Given the description of an element on the screen output the (x, y) to click on. 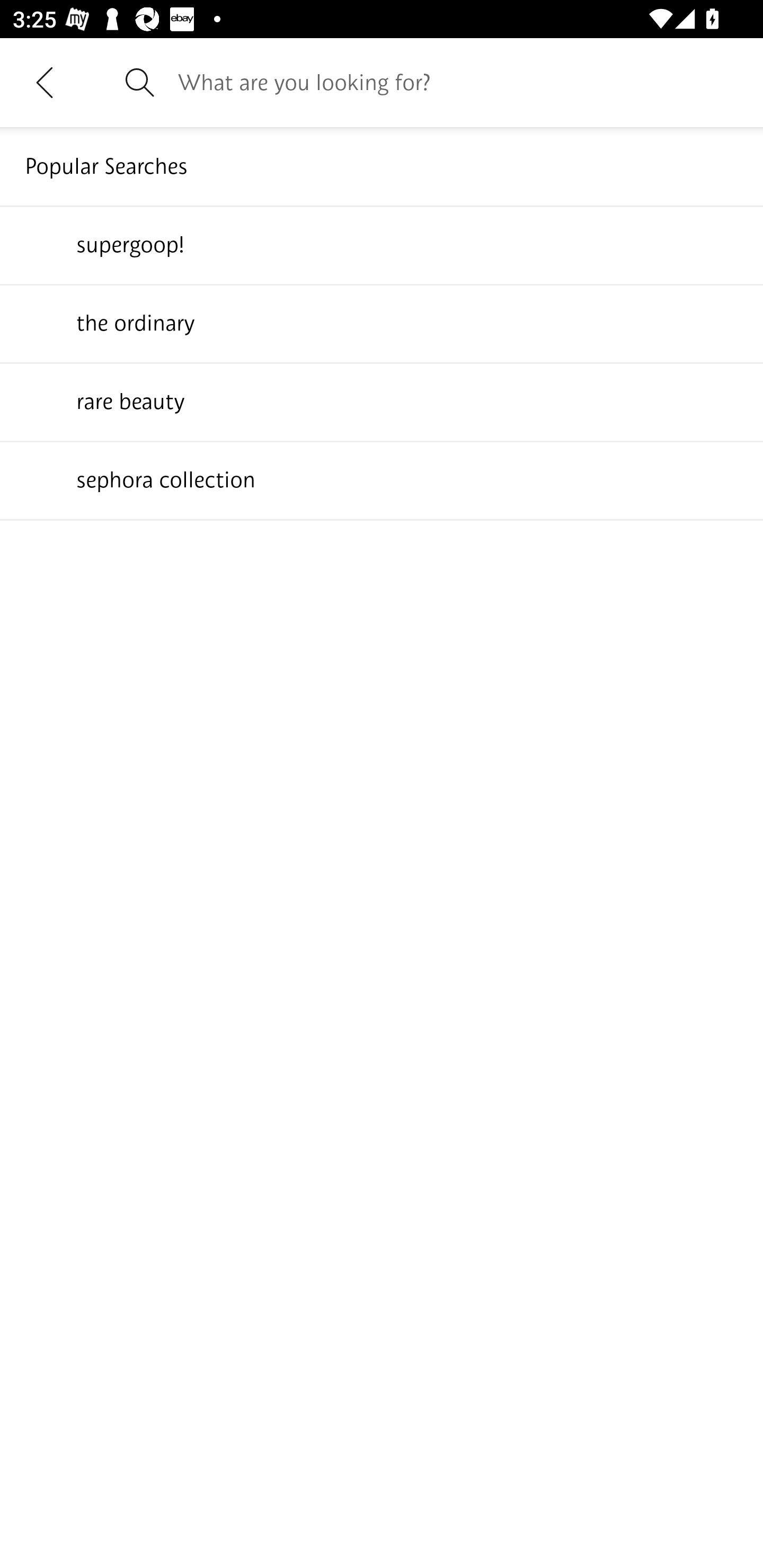
Navigate up (44, 82)
What are you looking for? (457, 82)
supergoop! (381, 244)
the ordinary (381, 322)
rare beauty (381, 401)
sephora collection (381, 479)
